Given the description of an element on the screen output the (x, y) to click on. 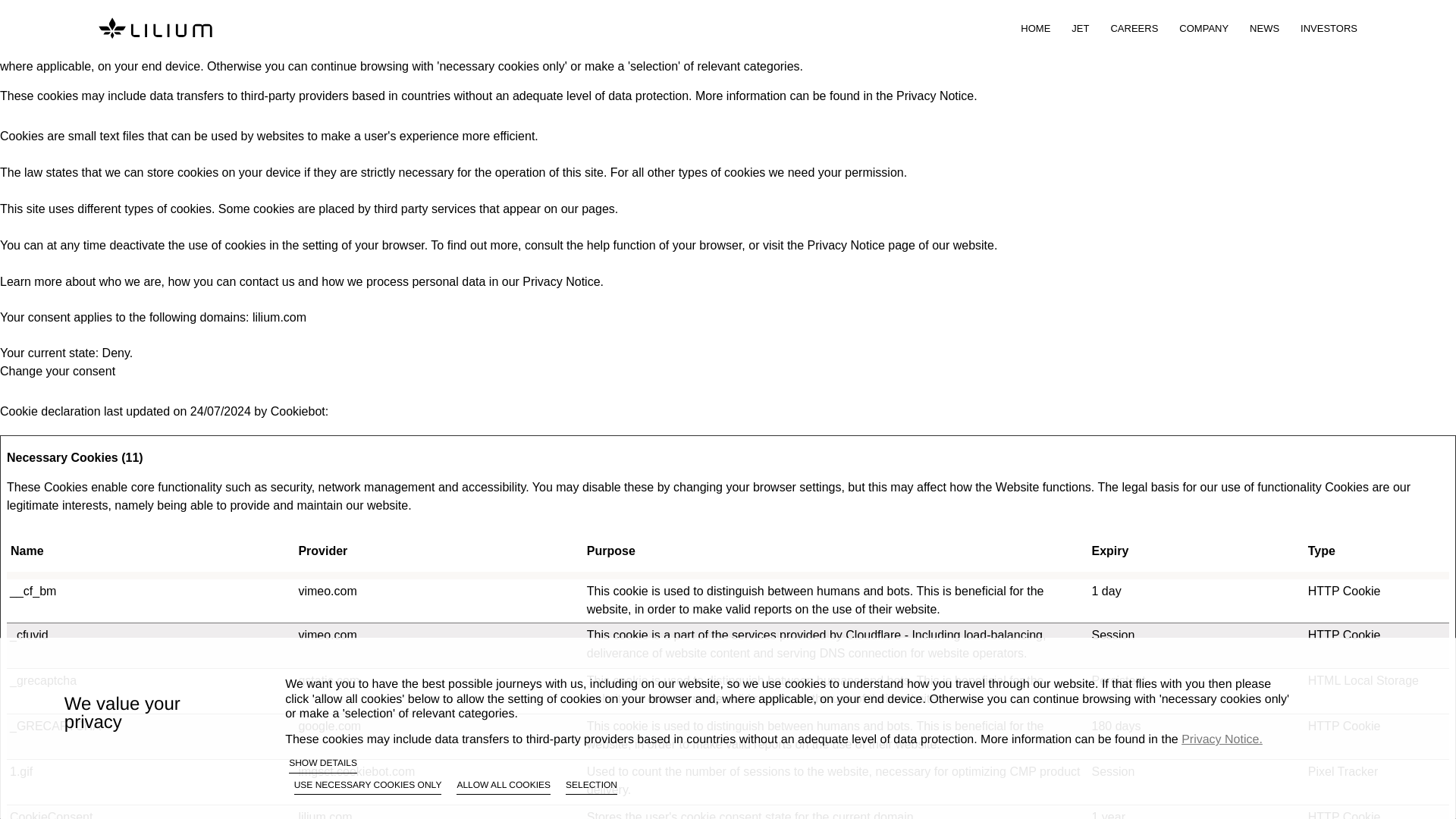
SELECTION (591, 786)
Privacy Notice. (936, 95)
Privacy Notice (560, 281)
USE NECESSARY COOKIES ONLY (368, 786)
SHOW DETAILS (322, 764)
Cookiebot (297, 410)
Privacy Notice. (1221, 739)
Privacy Notice (846, 245)
Cookiebot (297, 410)
Change your consent (57, 370)
ALLOW ALL COOKIES (503, 786)
